Given the description of an element on the screen output the (x, y) to click on. 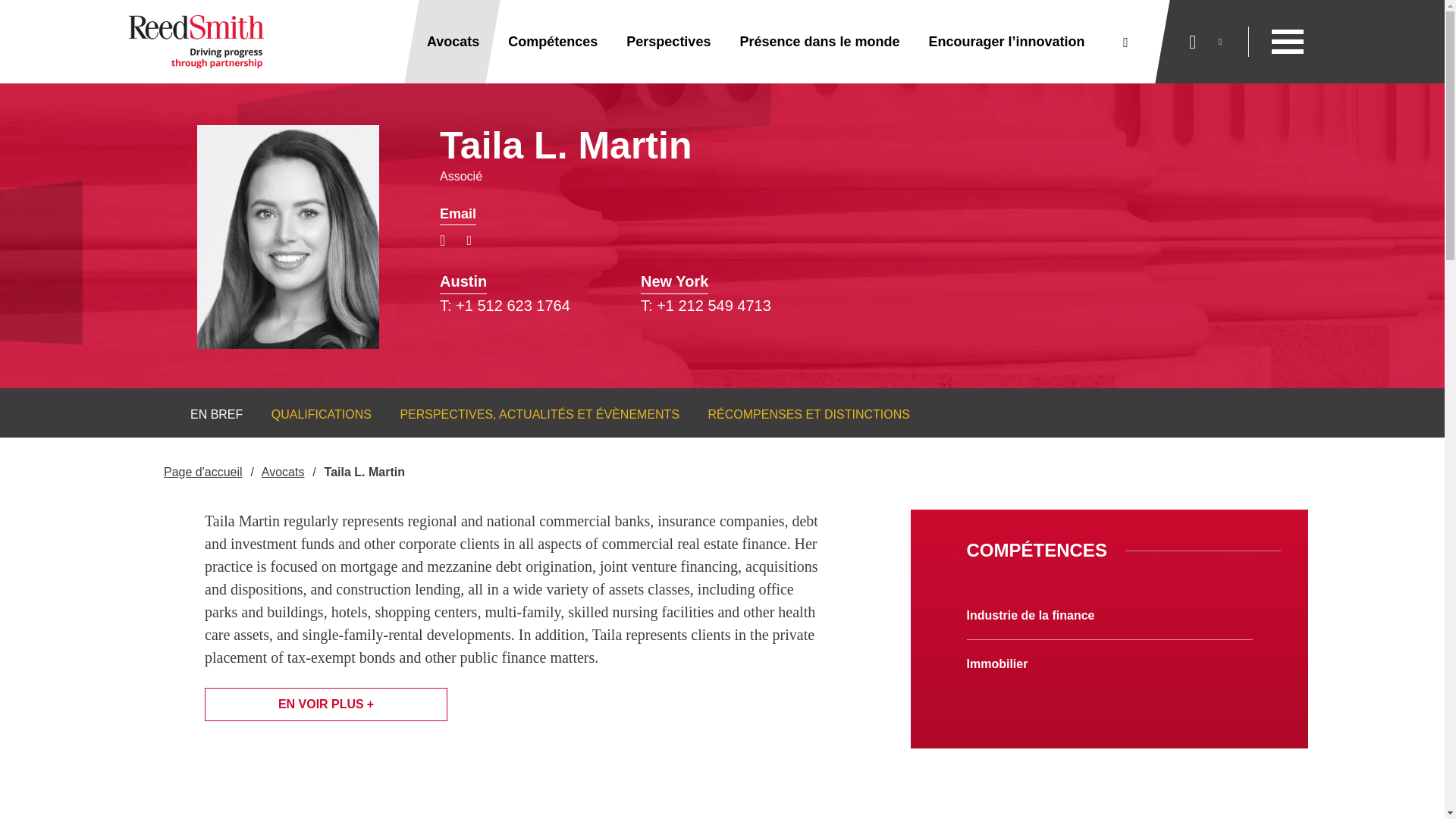
Avocats (453, 41)
New York (673, 281)
EN BREF (207, 414)
EN BREF (216, 414)
EN BREF (207, 414)
Send email to Taila L. Martin (457, 214)
Jump to Qualifications Section (311, 414)
Jump to En bref Section (207, 414)
QUALIFICATIONS (320, 414)
QUALIFICATIONS (311, 414)
QUALIFICATIONS (311, 414)
Austin (462, 281)
